Given the description of an element on the screen output the (x, y) to click on. 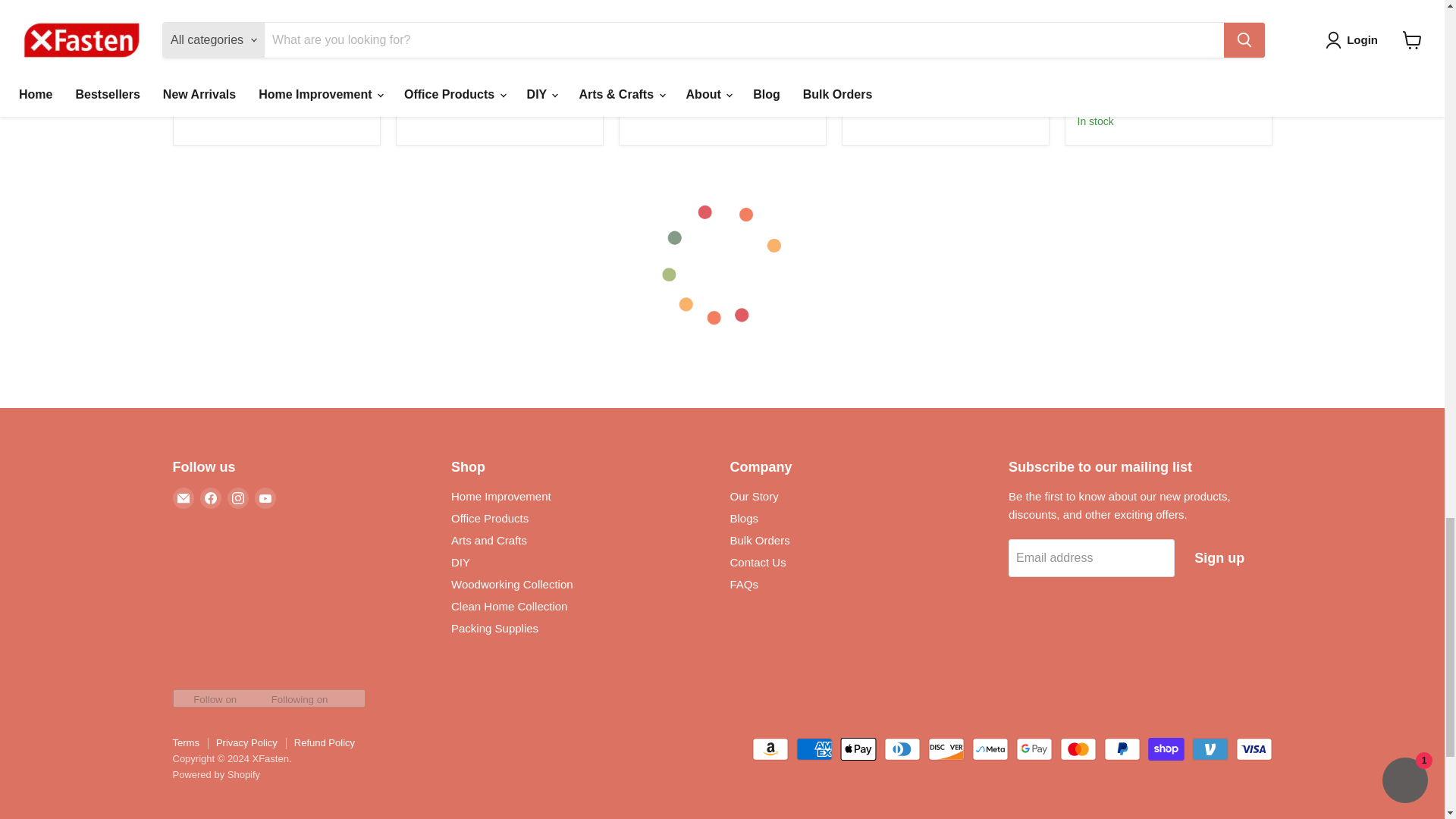
Facebook (210, 497)
XFasten (202, 23)
XFasten (1095, 102)
Instagram (237, 497)
XFasten (871, 23)
XFasten (425, 23)
YouTube (265, 497)
Email (183, 497)
XFasten (648, 23)
